Given the description of an element on the screen output the (x, y) to click on. 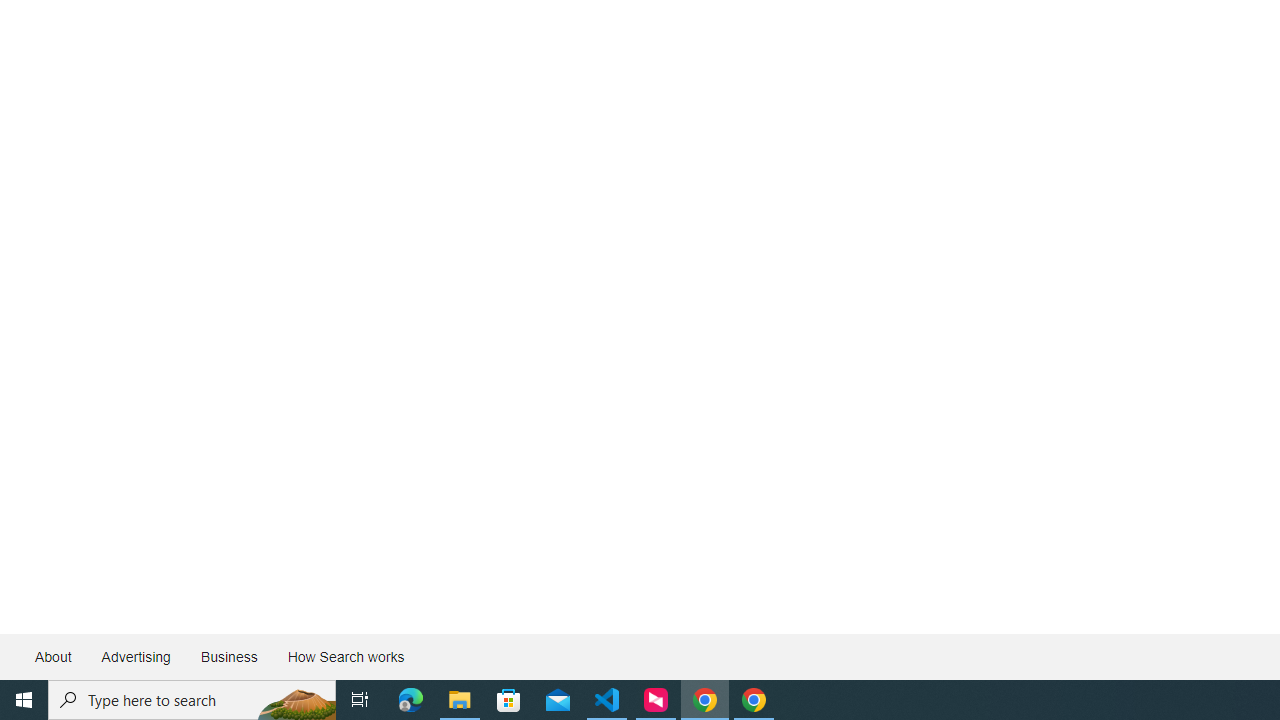
About (53, 656)
How Search works (345, 656)
Business (228, 656)
Advertising (135, 656)
